Given the description of an element on the screen output the (x, y) to click on. 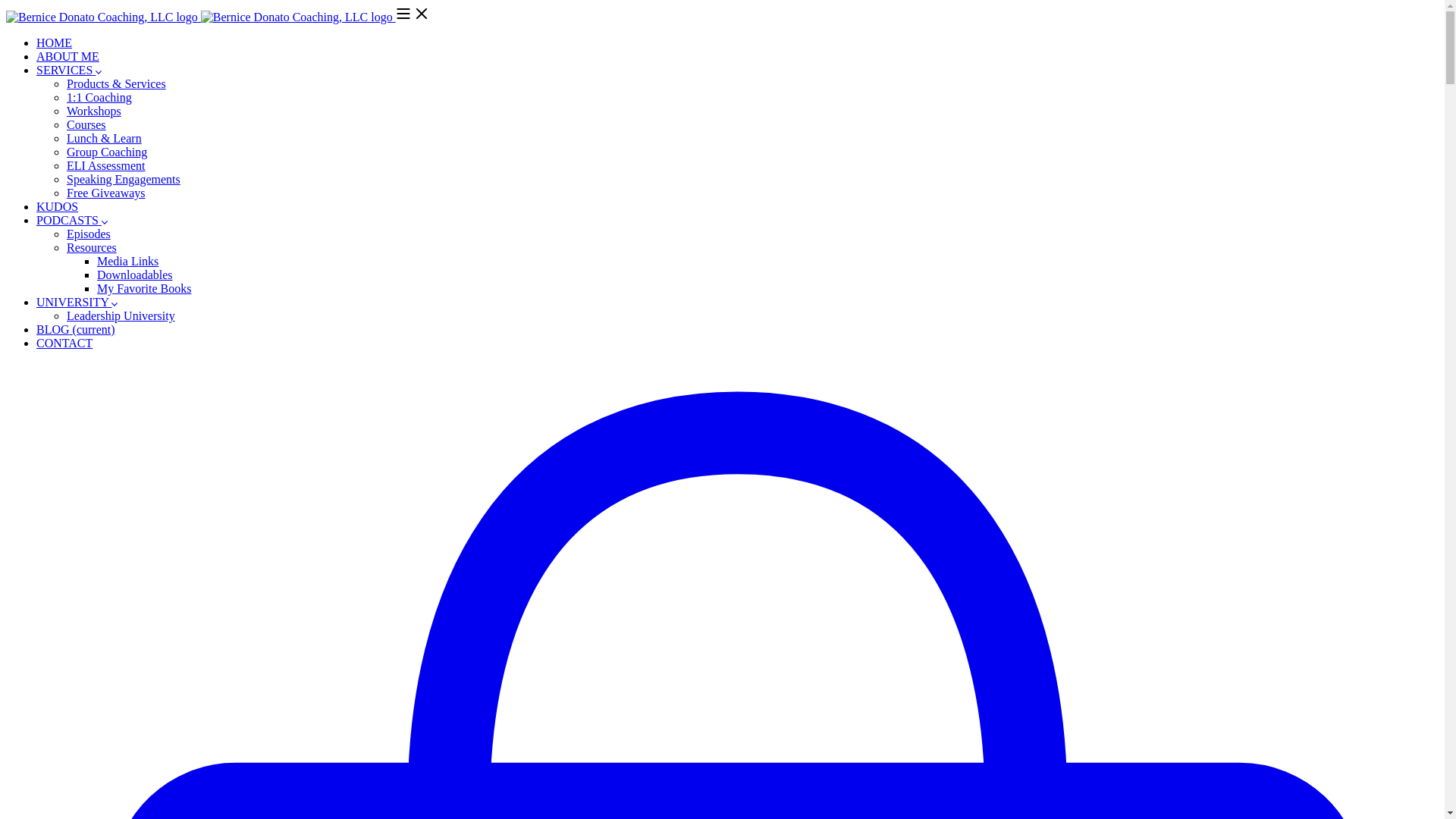
Leadership University (120, 315)
ABOUT ME (67, 56)
Group Coaching (106, 151)
Speaking Engagements (123, 178)
Courses (86, 124)
Workshops (93, 110)
Media Links (127, 260)
Downloadables (135, 274)
1:1 Coaching (99, 97)
UNIVERSITY (76, 301)
Free Giveaways (105, 192)
PODCASTS (71, 219)
HOME (53, 42)
ELI Assessment (105, 164)
SERVICES (68, 69)
